Given the description of an element on the screen output the (x, y) to click on. 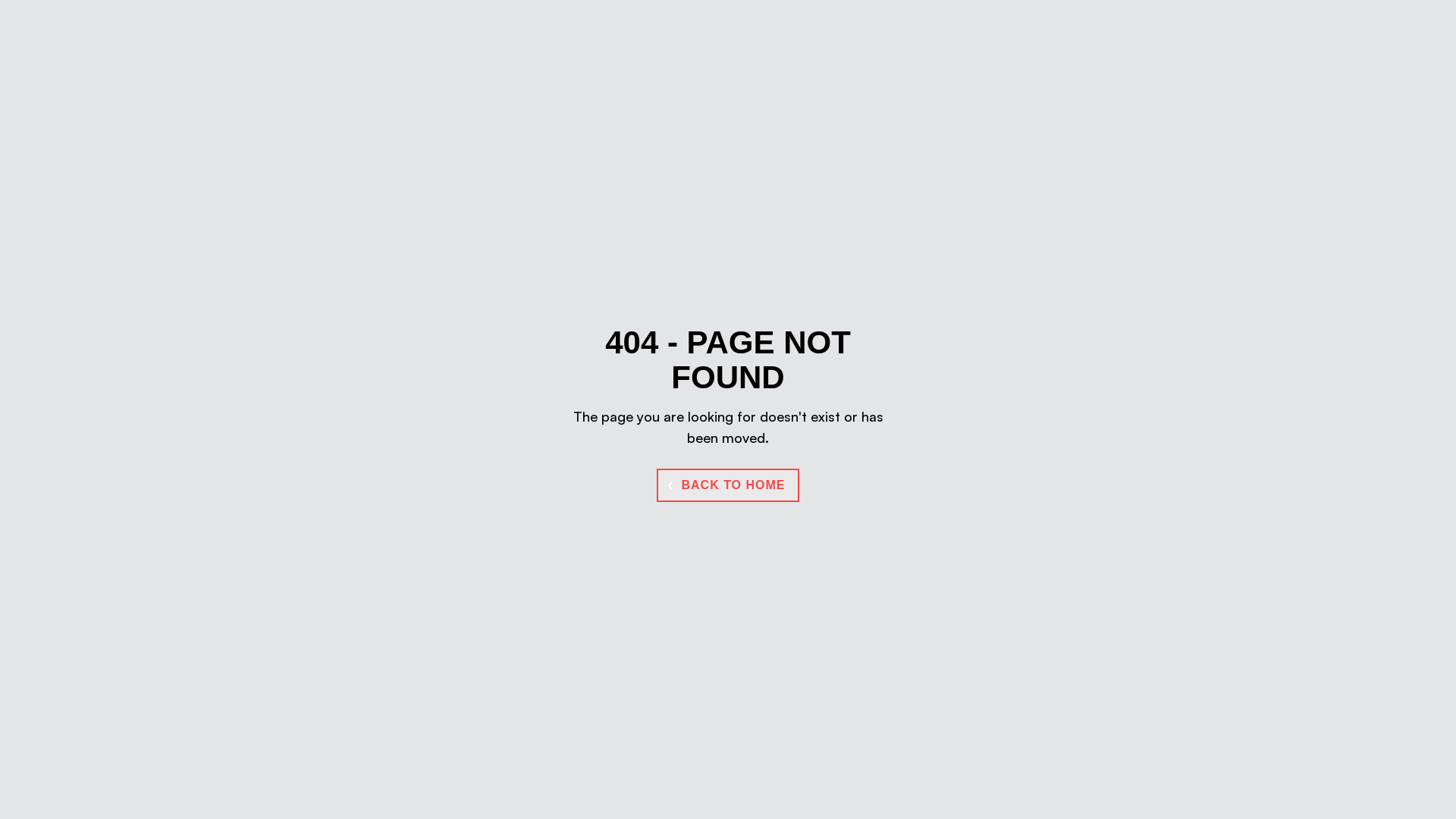
BACK TO HOME Element type: text (727, 485)
